Given the description of an element on the screen output the (x, y) to click on. 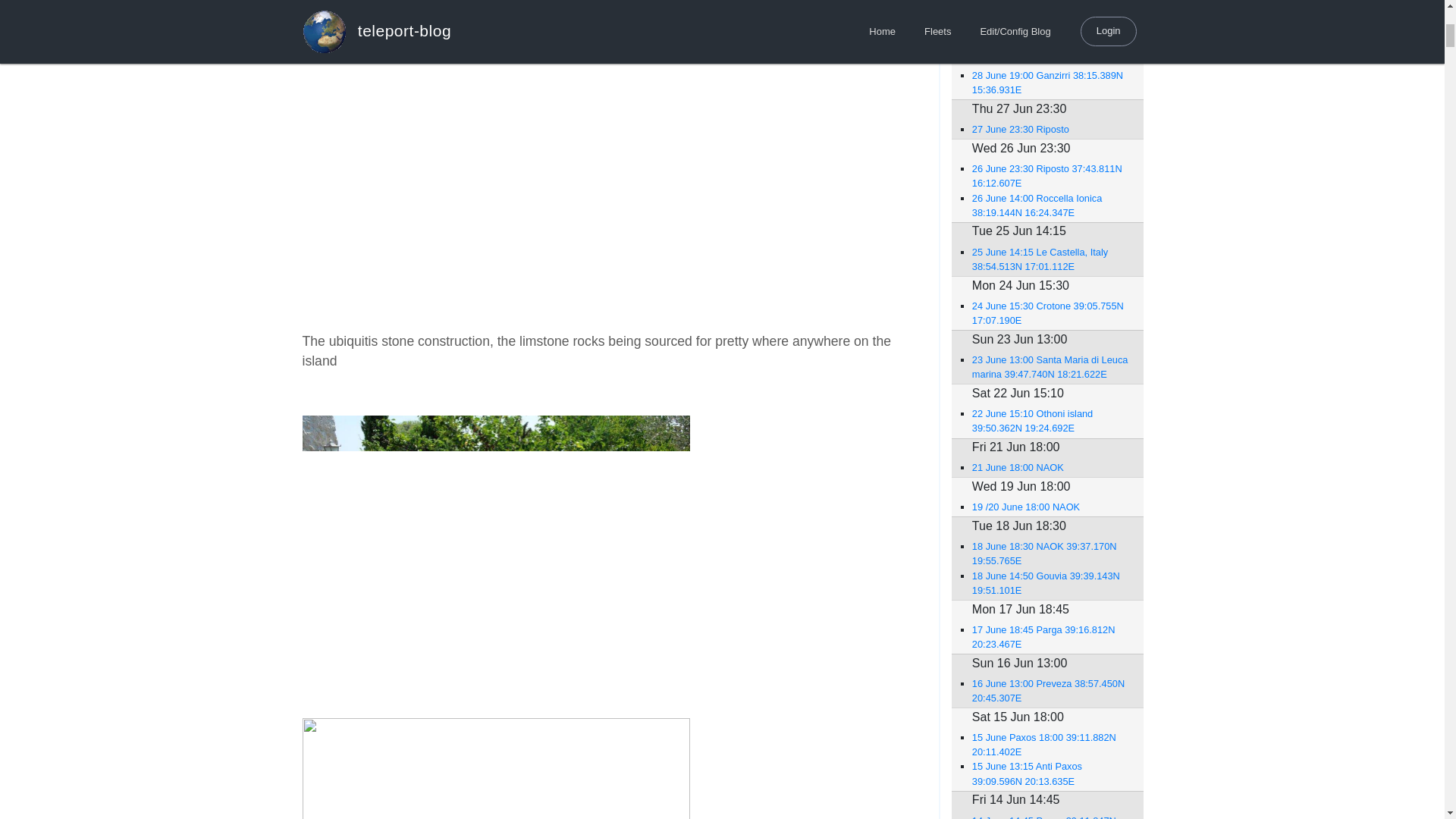
26 June 23:30 Riposto 37:43.811N 16:12.607E (1050, 175)
22 June 15:10 Othoni island 39:50.362N 19:24.692E (1050, 420)
26 June 14:00 Roccella Ionica 38:19.144N 16:24.347E (1050, 205)
24 June 15:30 Crotone 39:05.755N 17:07.190E (1050, 312)
25 June 14:15 Le Castella, Italy 38:54.513N 17:01.112E (1050, 258)
28 June 19:00 Ganzirri 38:15.389N 15:36.931E (1050, 82)
27 June 23:30 Riposto (1050, 129)
29 June 12:45 Lipari 38:28.622N 15:47.535E (1050, 28)
